Given the description of an element on the screen output the (x, y) to click on. 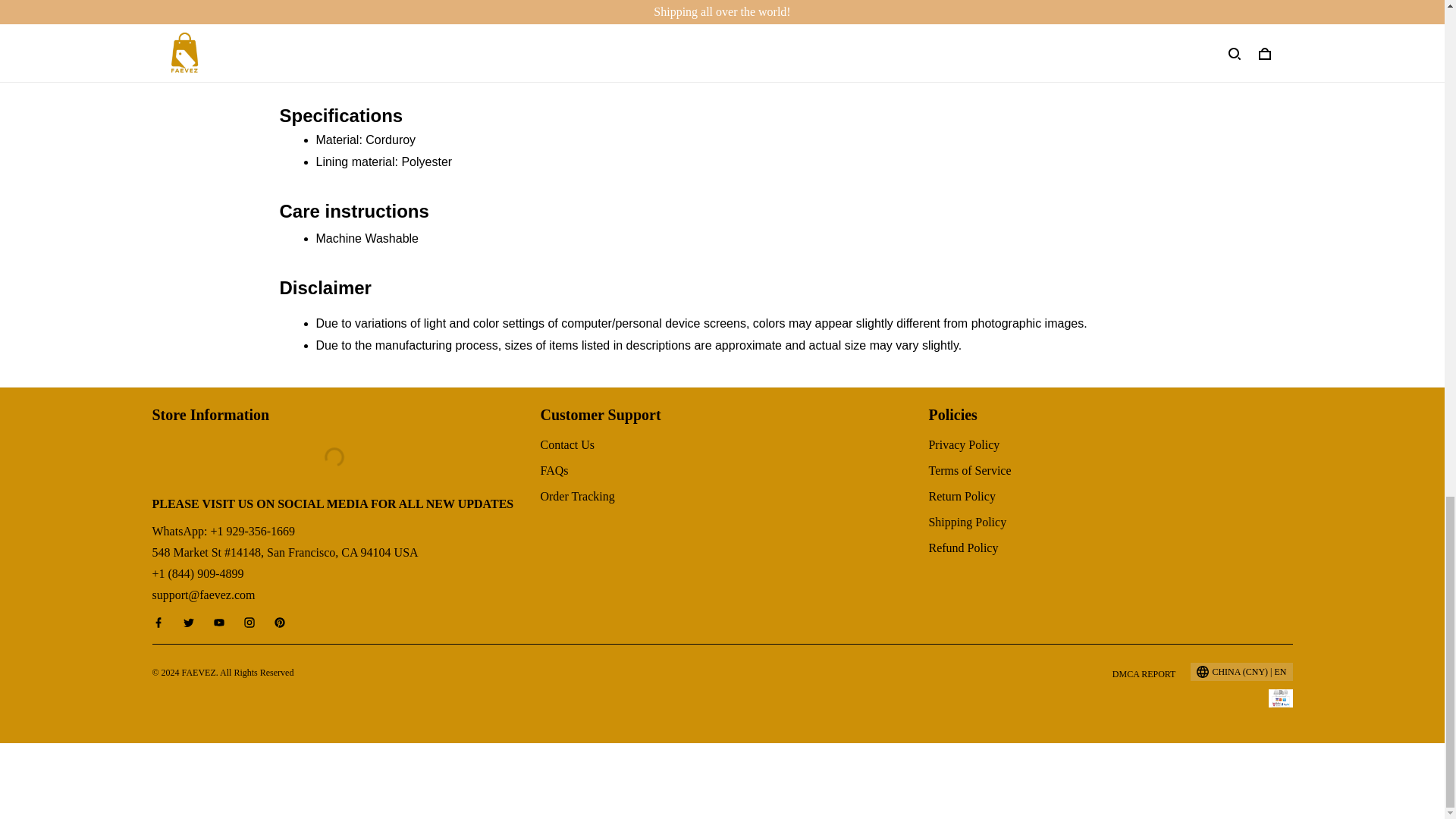
pinterest (283, 622)
facebook (162, 622)
instagram (253, 622)
youtube (222, 622)
twitter (192, 622)
